Given the description of an element on the screen output the (x, y) to click on. 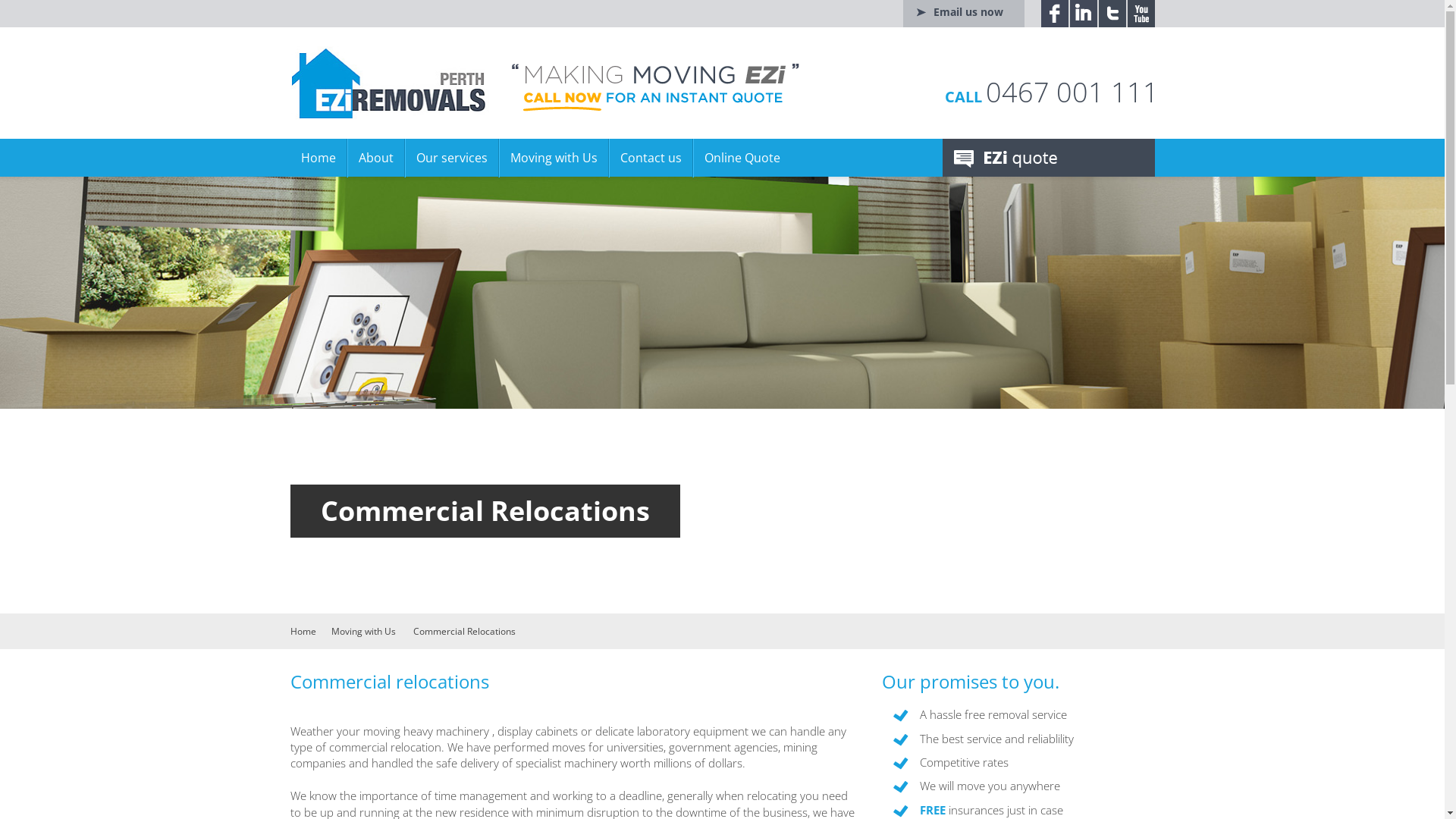
Our services Element type: text (451, 157)
addthis_button_facebook fb link Element type: hover (1053, 13)
About Element type: text (375, 157)
addthis_button_linkedin linked link Element type: hover (1082, 13)
Moving with Us Element type: text (553, 157)
Contact us Element type: text (650, 157)
Moving with Us Element type: text (362, 630)
Home Element type: text (317, 157)
youtube link Element type: hover (1140, 13)
CALL 0467 001 111 Element type: text (1051, 91)
Ezi Removals Perth Element type: hover (389, 82)
Making moving EZi - Call Now for an instant quote Element type: hover (655, 87)
addthis_button_twitter twitter link Element type: hover (1111, 13)
Email us now Element type: text (962, 13)
Online Quote Element type: text (741, 157)
Home Element type: text (302, 630)
